Given the description of an element on the screen output the (x, y) to click on. 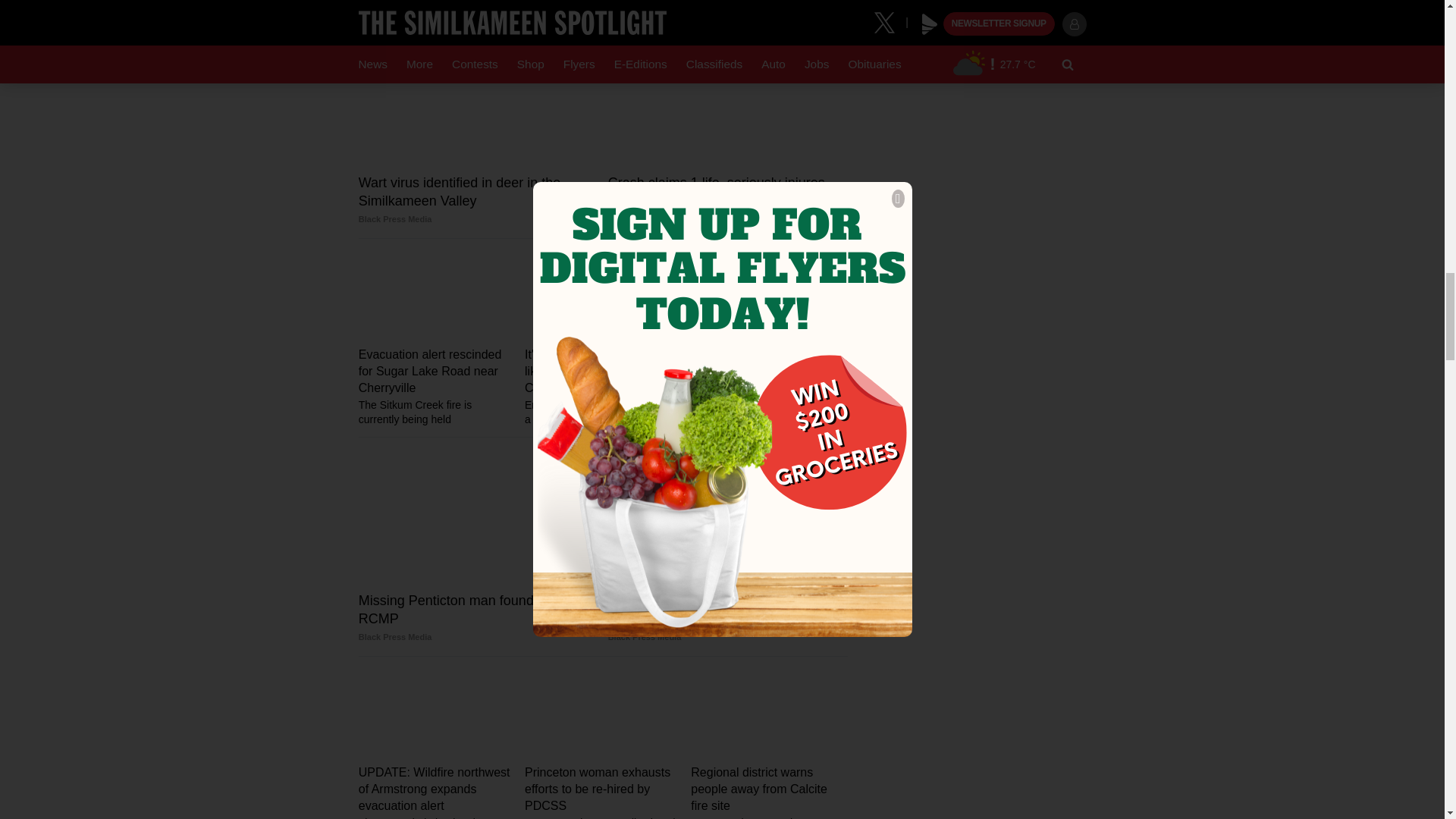
Wart virus identified in deer in the Similkameen Valley (478, 200)
Crash claims 1 life, seriously injures another near Savona (727, 200)
